Given the description of an element on the screen output the (x, y) to click on. 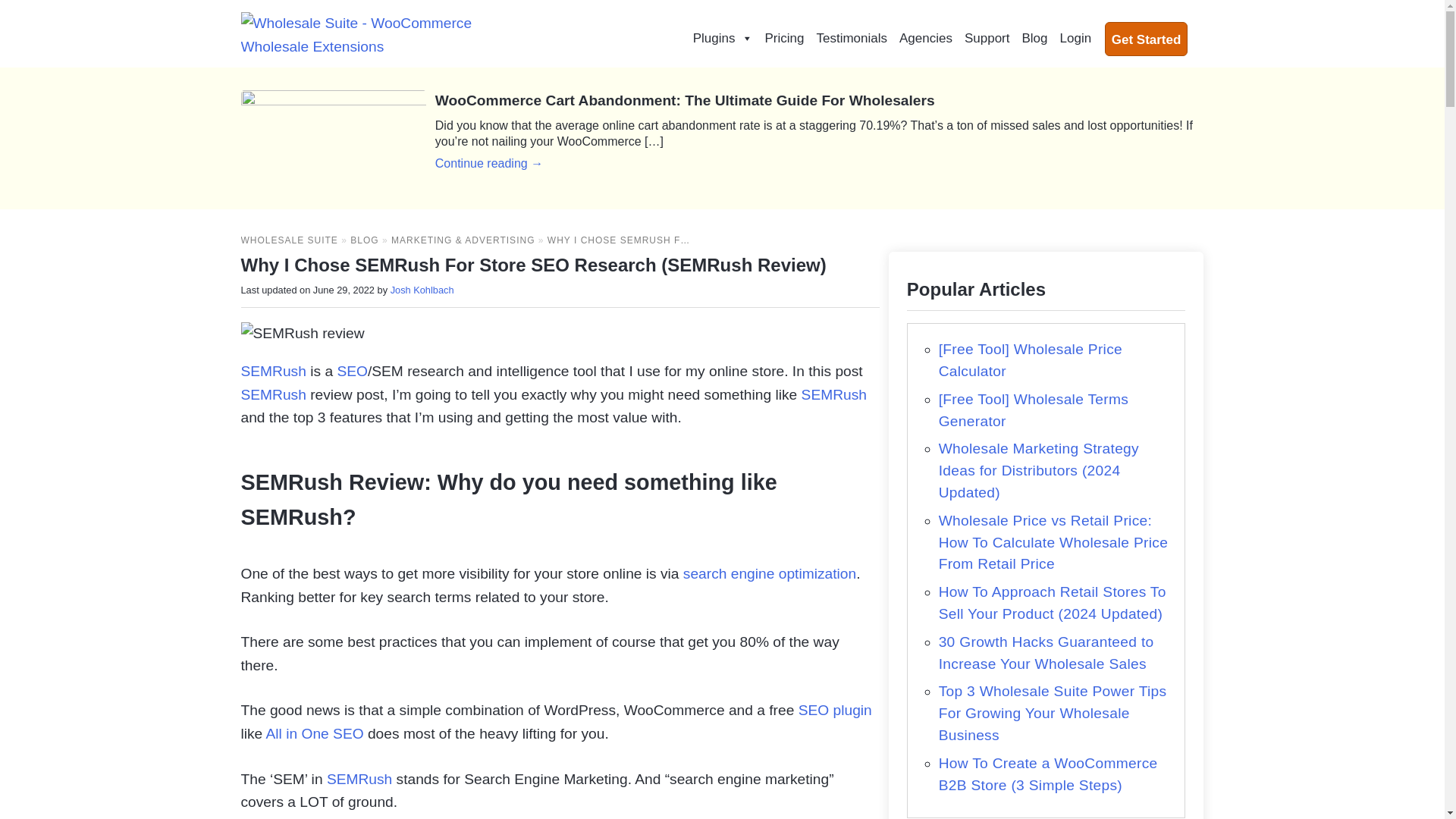
WHOLESALE SUITE (289, 240)
SEMRush (834, 394)
Go to Wholesale Suite. (289, 240)
All-In-One SEO (834, 709)
Agencies (925, 38)
SEO plugin (834, 709)
SEMRush (769, 573)
Pricing (783, 38)
SEO (352, 371)
Get Started (1146, 38)
BLOG (364, 240)
woocommerce-cart-abandonment - Wholesale Suite (333, 137)
All in One SEO (315, 733)
Go to Blog. (364, 240)
SEMRush (273, 394)
